Given the description of an element on the screen output the (x, y) to click on. 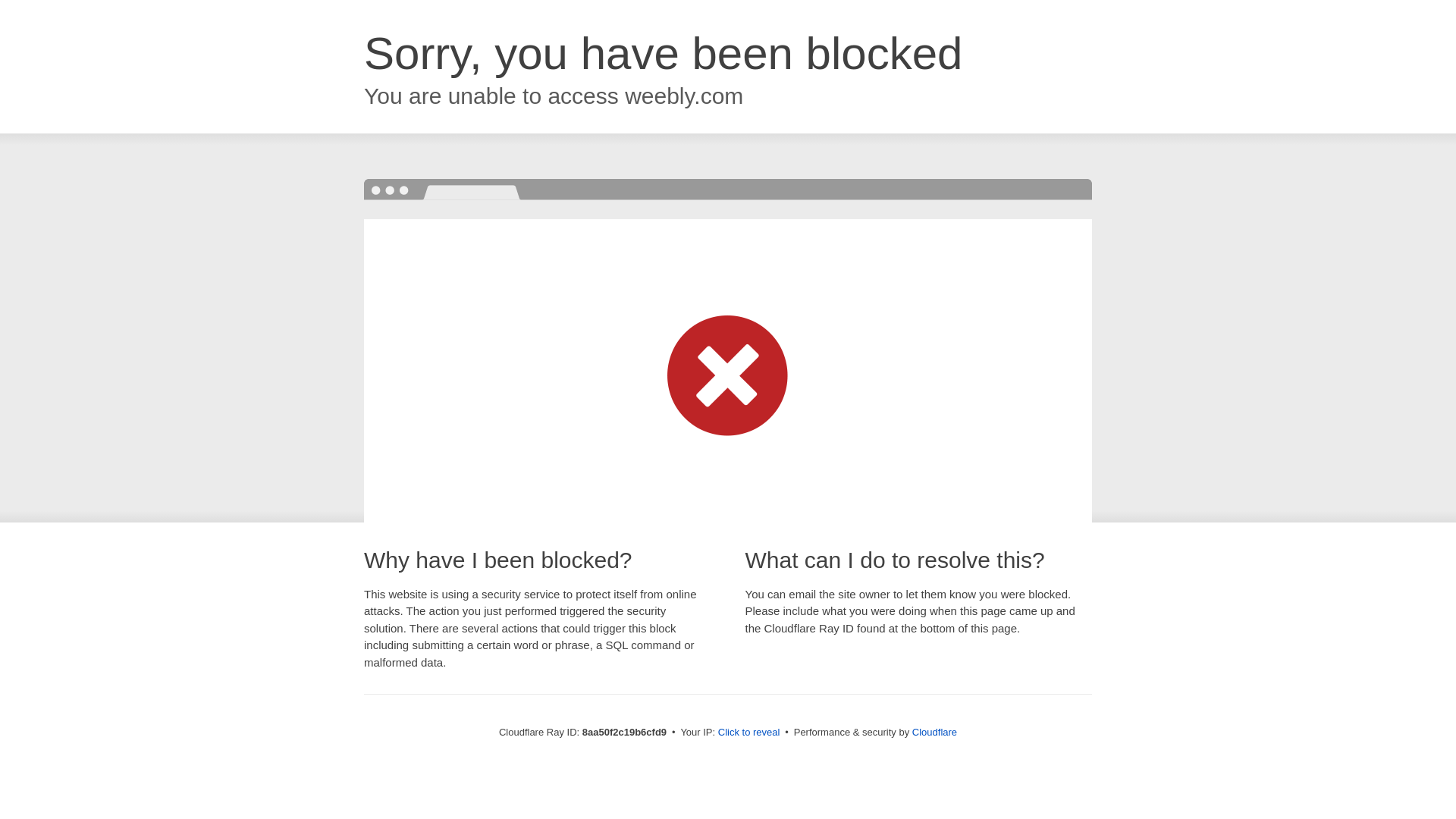
Click to reveal (748, 732)
Cloudflare (934, 731)
